Given the description of an element on the screen output the (x, y) to click on. 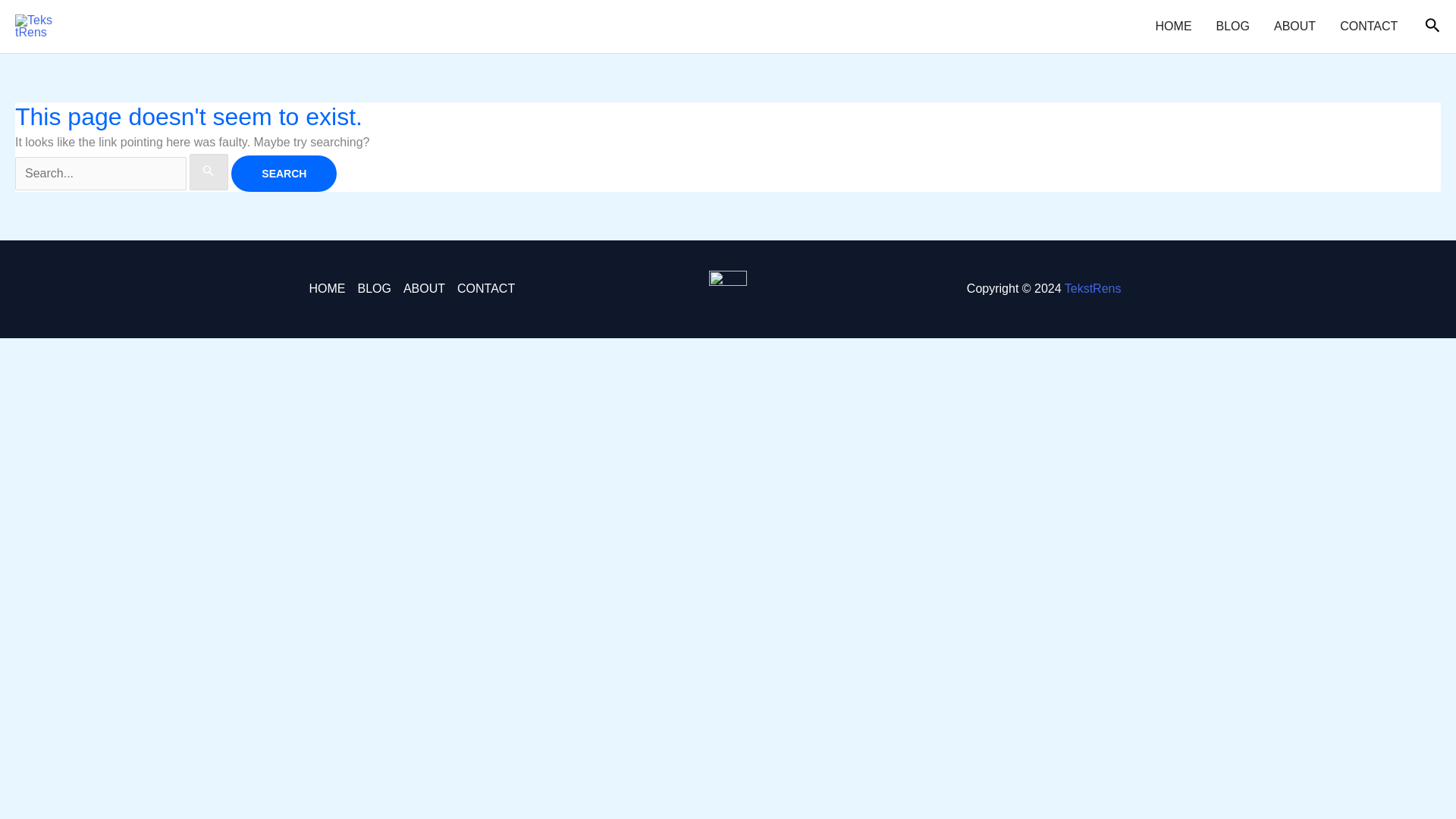
HOME (1173, 26)
BLOG (1233, 26)
TekstRens (1092, 287)
Search (283, 173)
ABOUT (1294, 26)
HOME (329, 288)
ABOUT (424, 288)
BLOG (373, 288)
Search (283, 173)
CONTACT (483, 288)
